Given the description of an element on the screen output the (x, y) to click on. 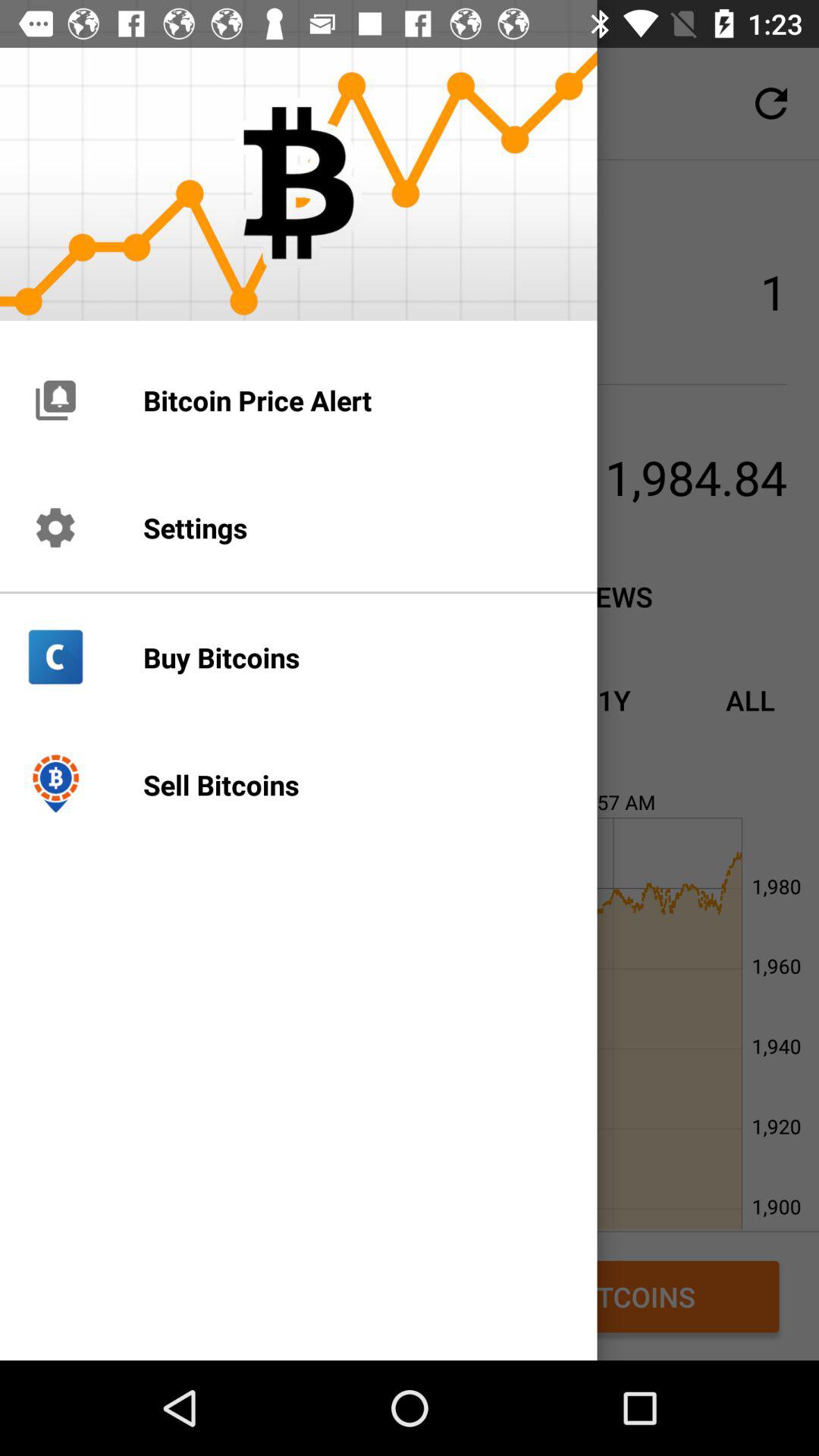
select the number 198484 (545, 476)
